Given the description of an element on the screen output the (x, y) to click on. 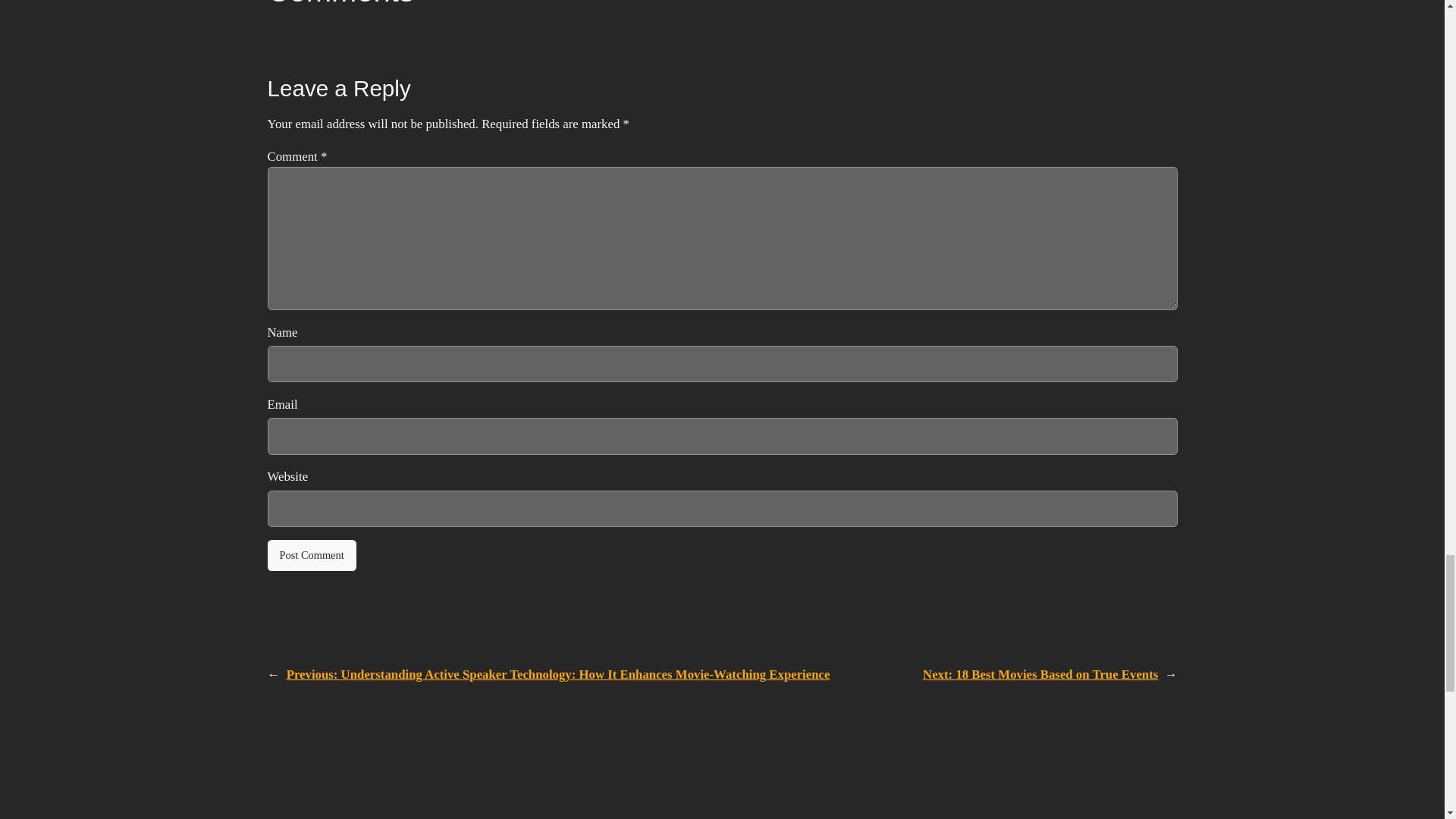
Next: 18 Best Movies Based on True Events (1040, 674)
Post Comment (310, 555)
Post Comment (310, 555)
